Given the description of an element on the screen output the (x, y) to click on. 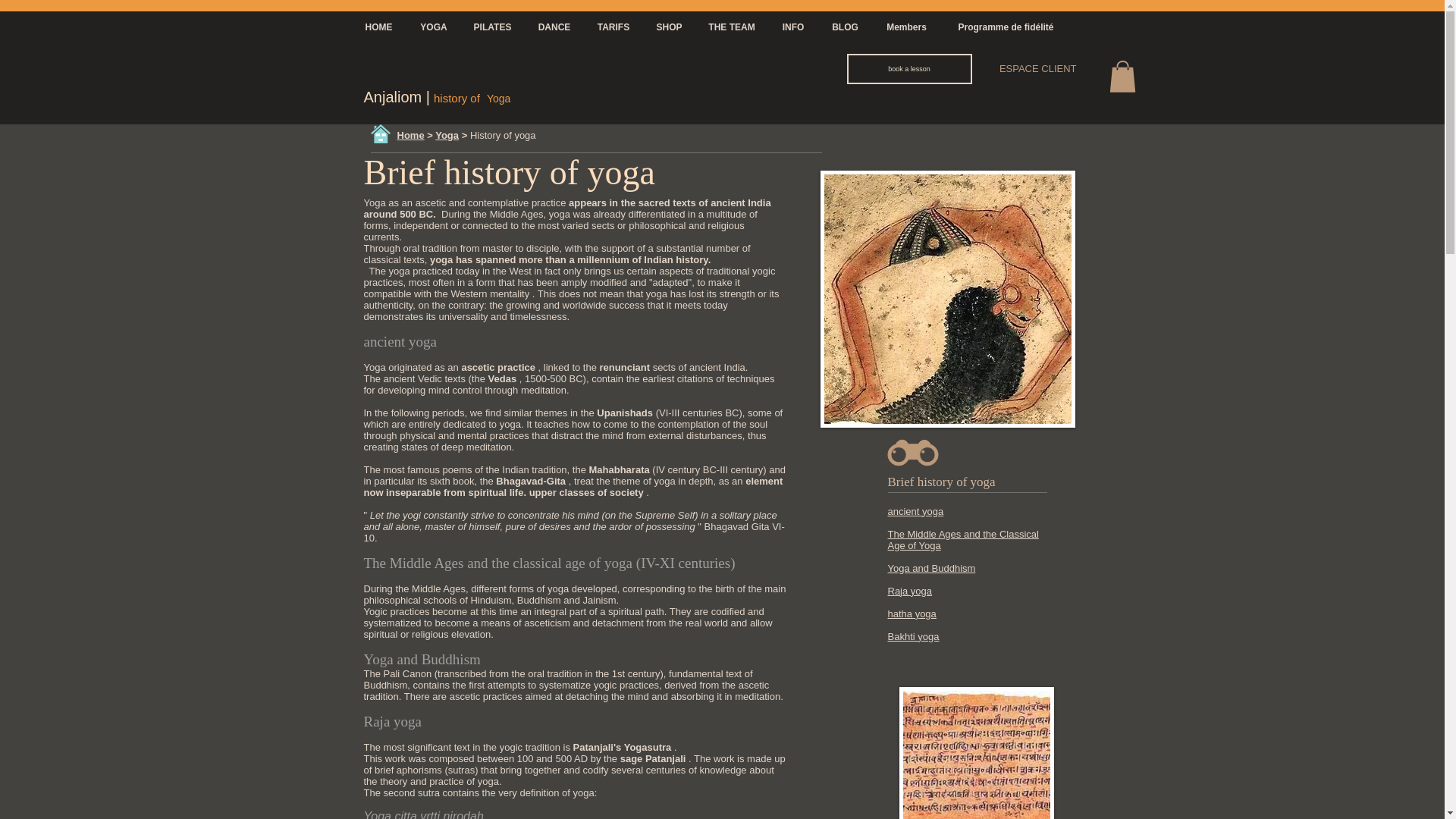
THE TEAM (731, 27)
SHOP (669, 27)
HOME (378, 27)
histoire du yoga (948, 298)
le yoga ancien (976, 753)
